Given the description of an element on the screen output the (x, y) to click on. 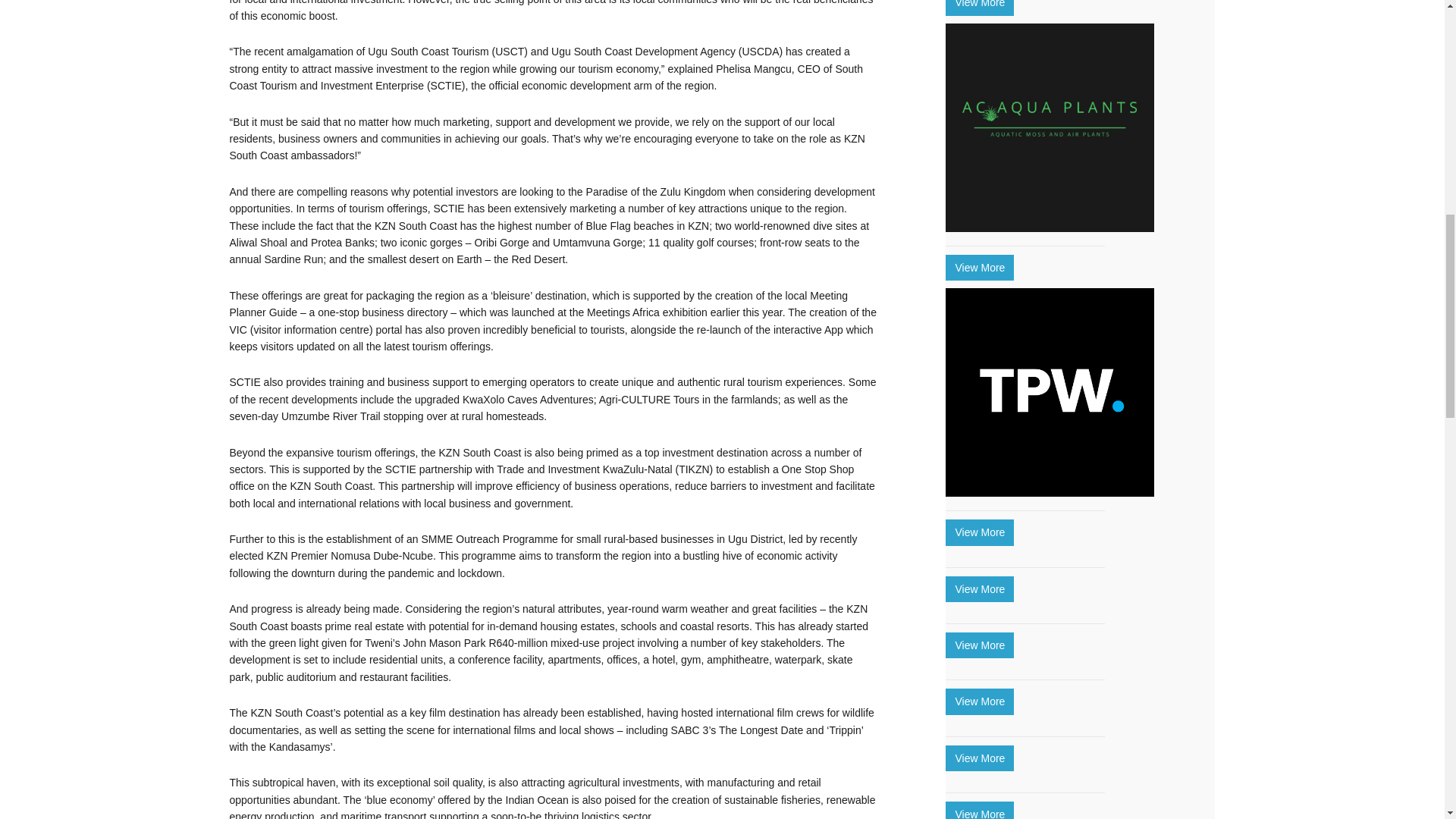
View More (978, 532)
View More (978, 588)
View More (978, 758)
View More (978, 7)
View More (978, 645)
View More (978, 267)
View More (978, 701)
